Given the description of an element on the screen output the (x, y) to click on. 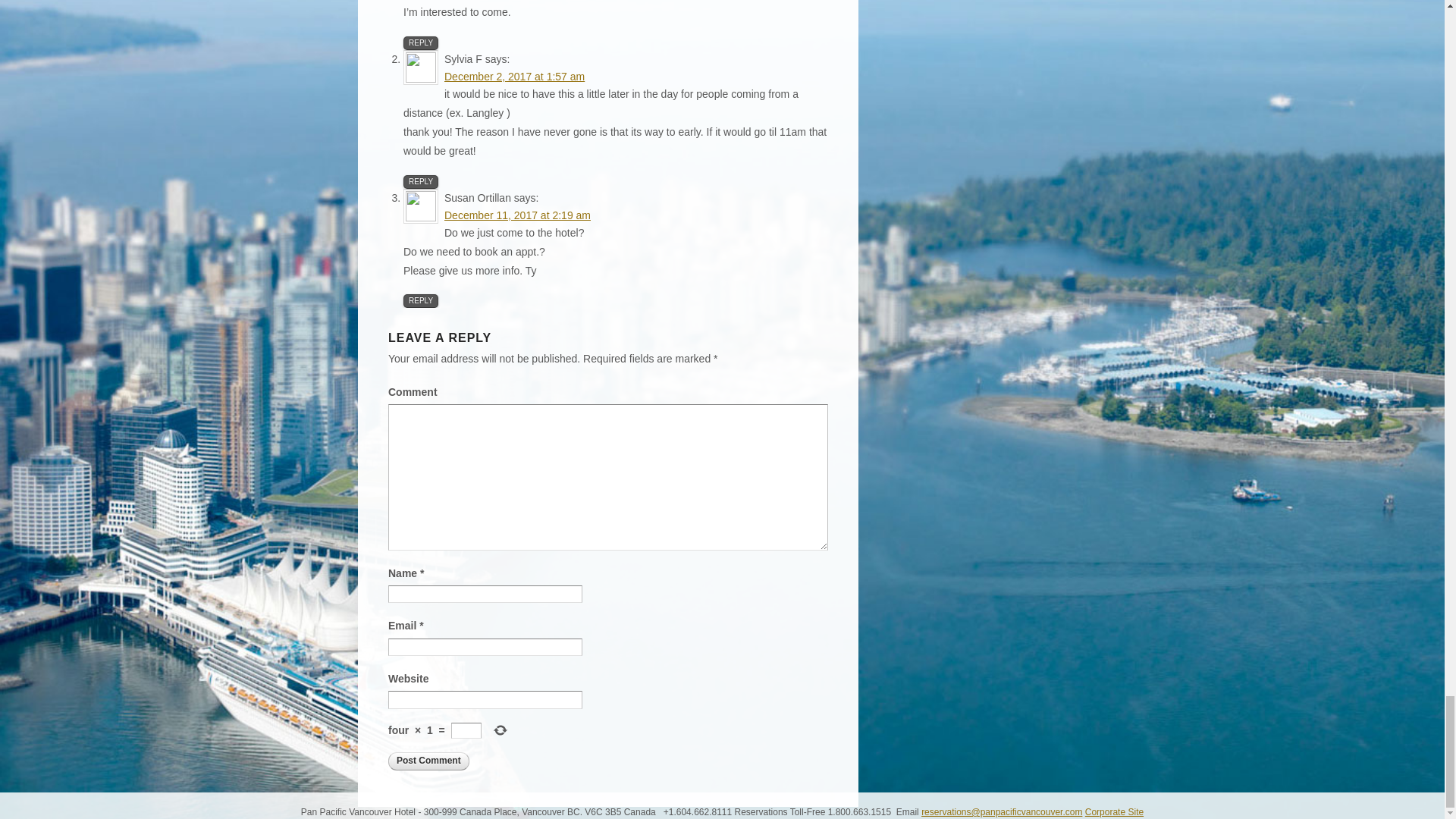
Post Comment (428, 760)
REPLY (420, 42)
